Given the description of an element on the screen output the (x, y) to click on. 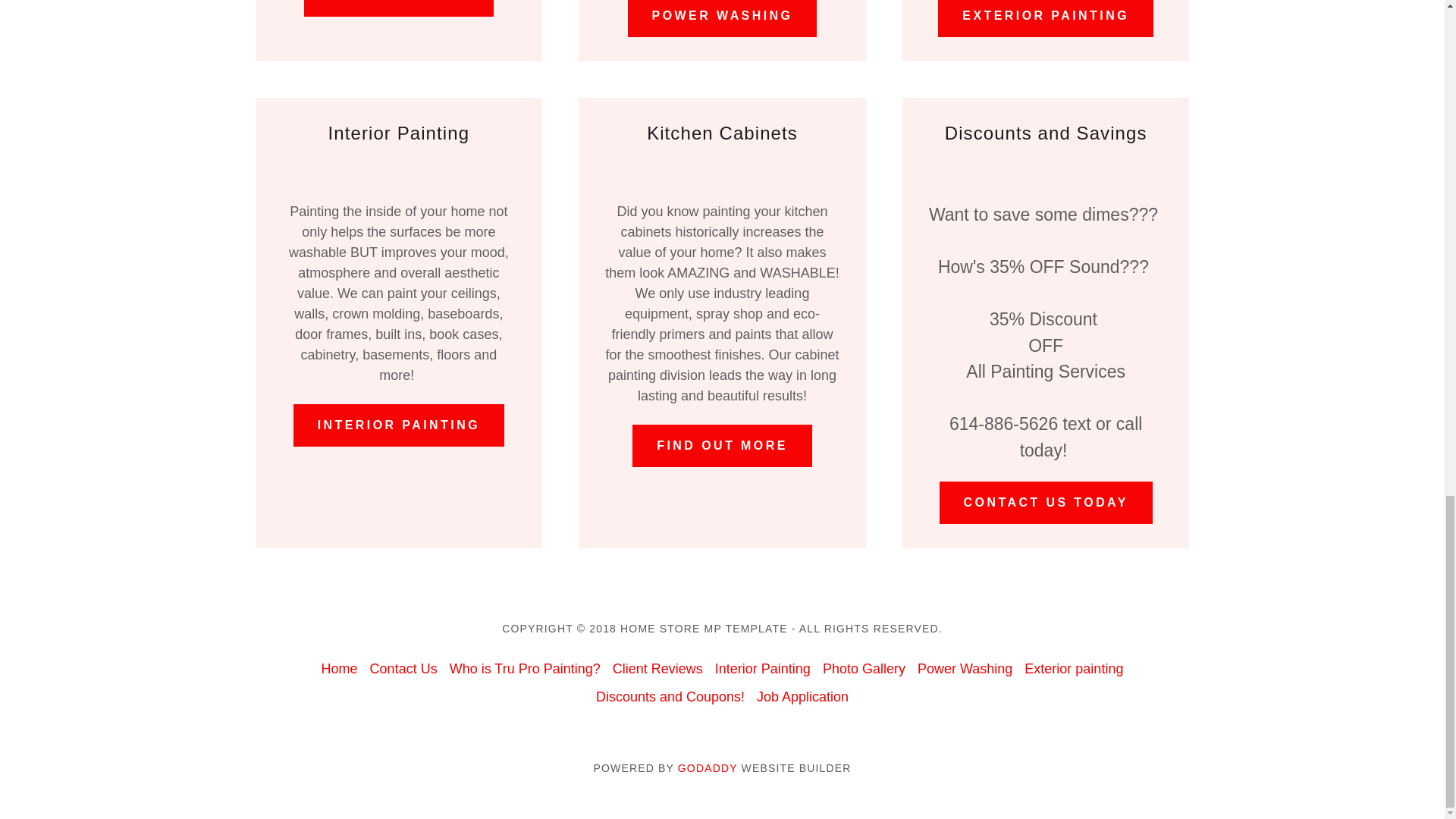
FREE ESTIMATES (398, 8)
INTERIOR PAINTING (398, 425)
POWER WASHING (721, 18)
EXTERIOR PAINTING (1045, 18)
